Given the description of an element on the screen output the (x, y) to click on. 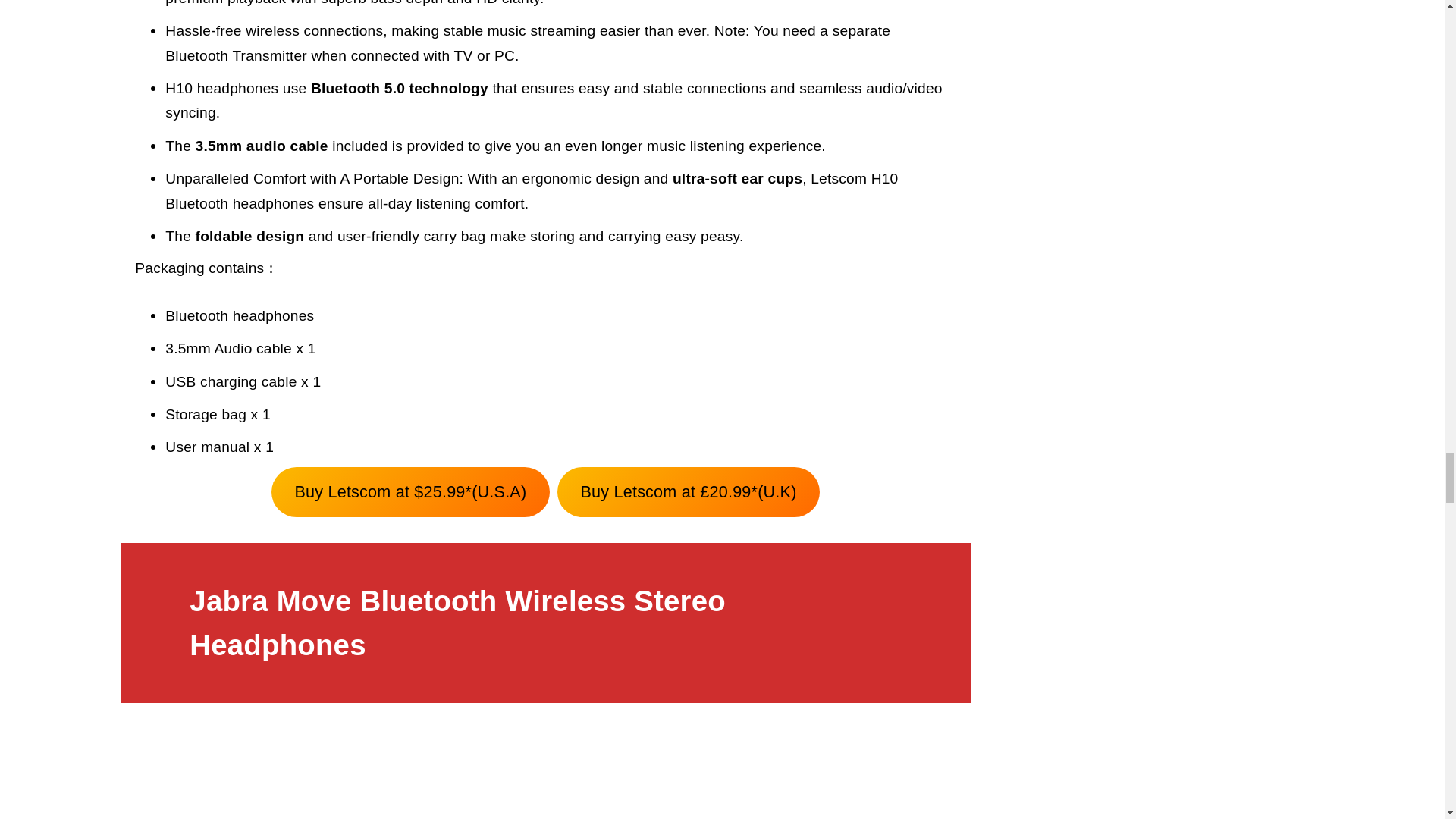
Best Selling and Top Trending WIRELESS HEADPHONES 7 (545, 771)
